Given the description of an element on the screen output the (x, y) to click on. 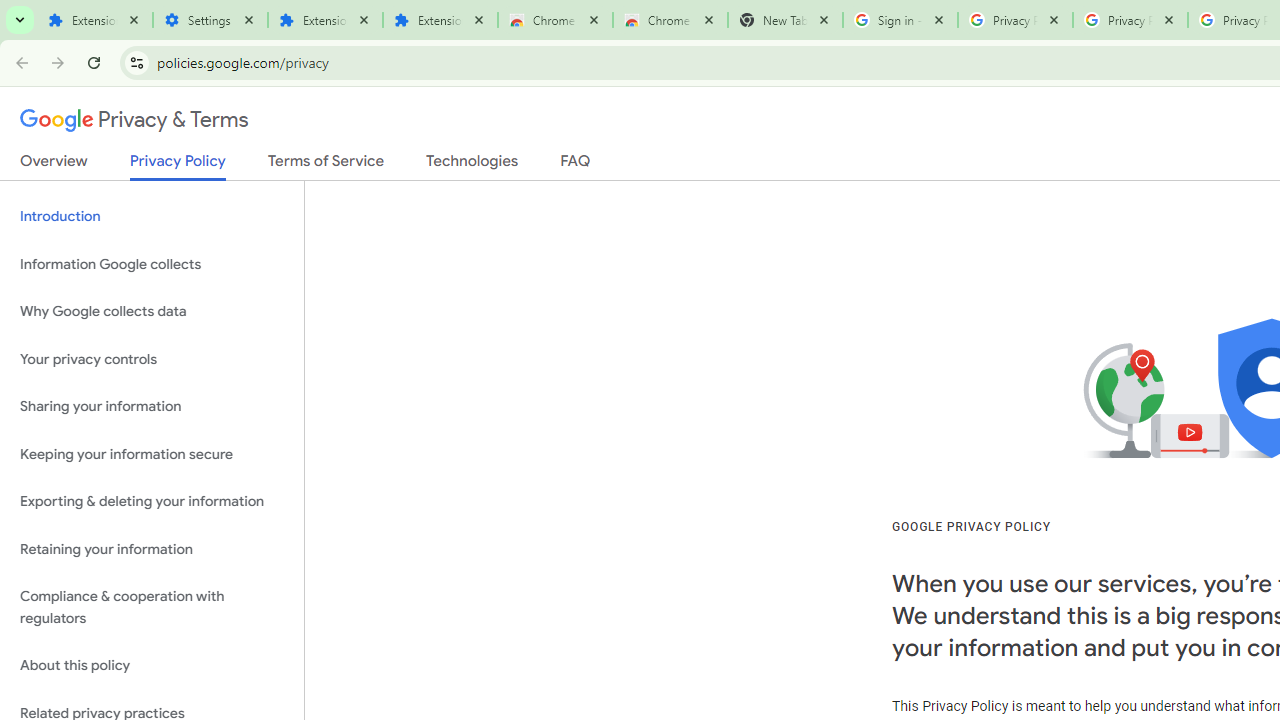
Chrome Web Store (555, 20)
Settings (209, 20)
Overview (54, 165)
Your privacy controls (152, 358)
